Given the description of an element on the screen output the (x, y) to click on. 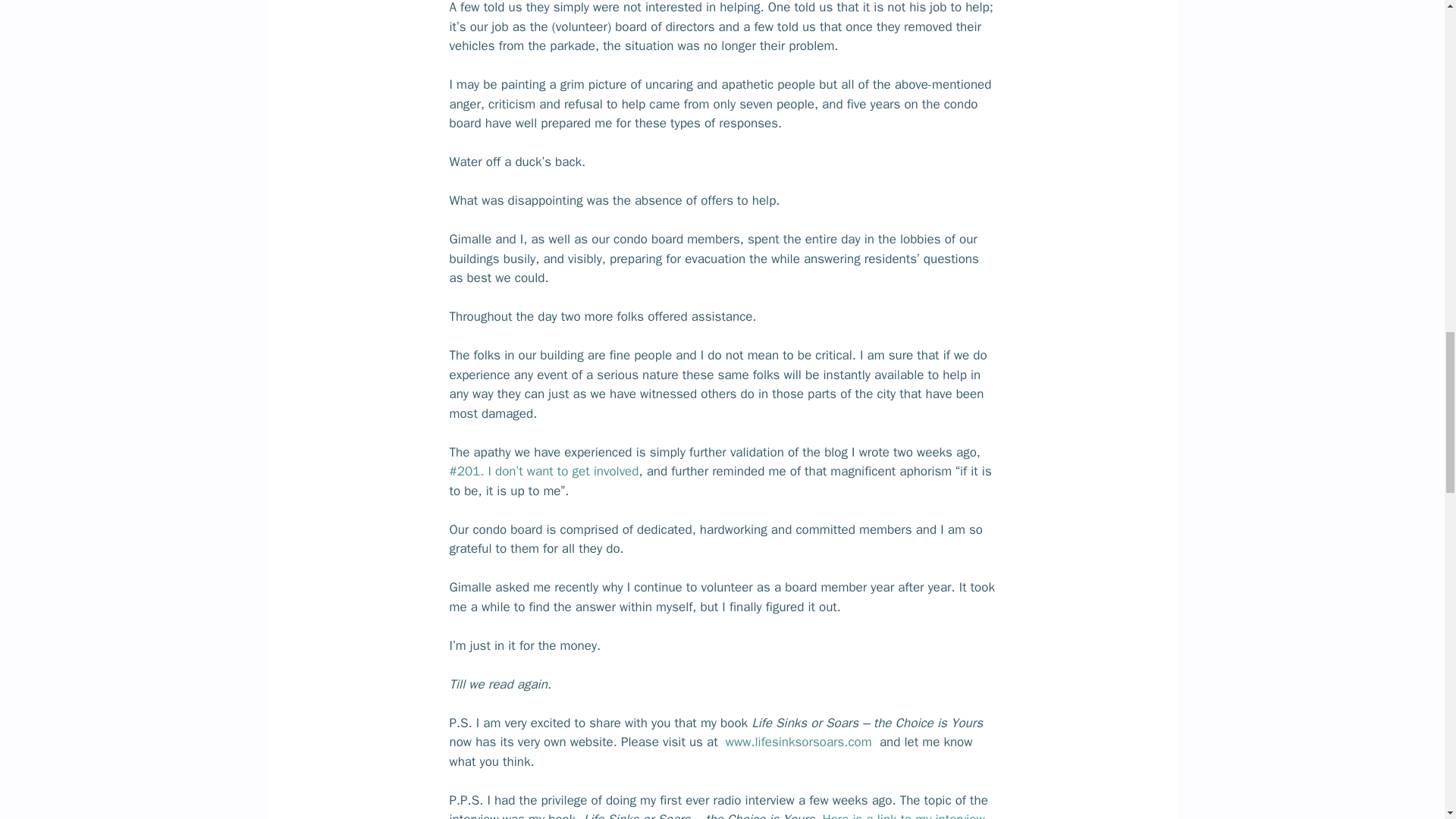
Blog RK201 (543, 471)
APMG1 (903, 815)
Here is a link to my interview (903, 815)
www.lifesinksorsoars.com (798, 741)
